Given the description of an element on the screen output the (x, y) to click on. 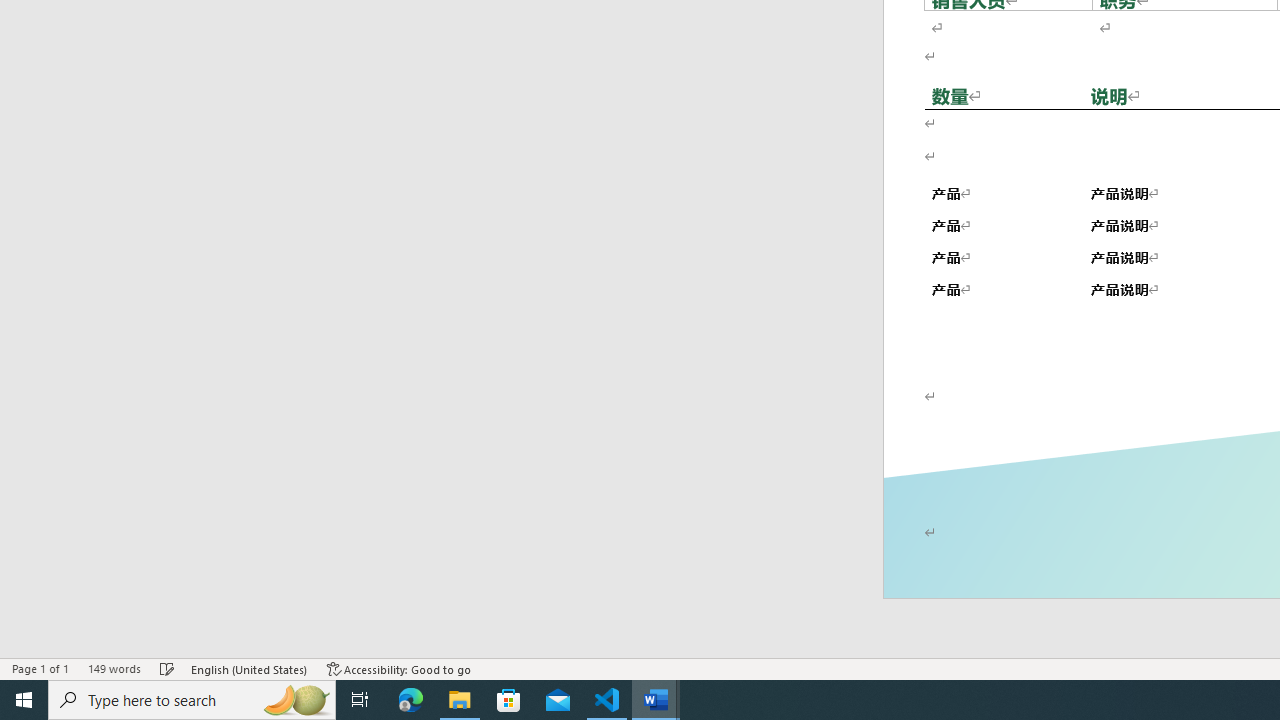
Page Number Page 1 of 1 (39, 668)
Language English (United States) (250, 668)
Spelling and Grammar Check Checking (168, 668)
Accessibility Checker Accessibility: Good to go (399, 668)
